Given the description of an element on the screen output the (x, y) to click on. 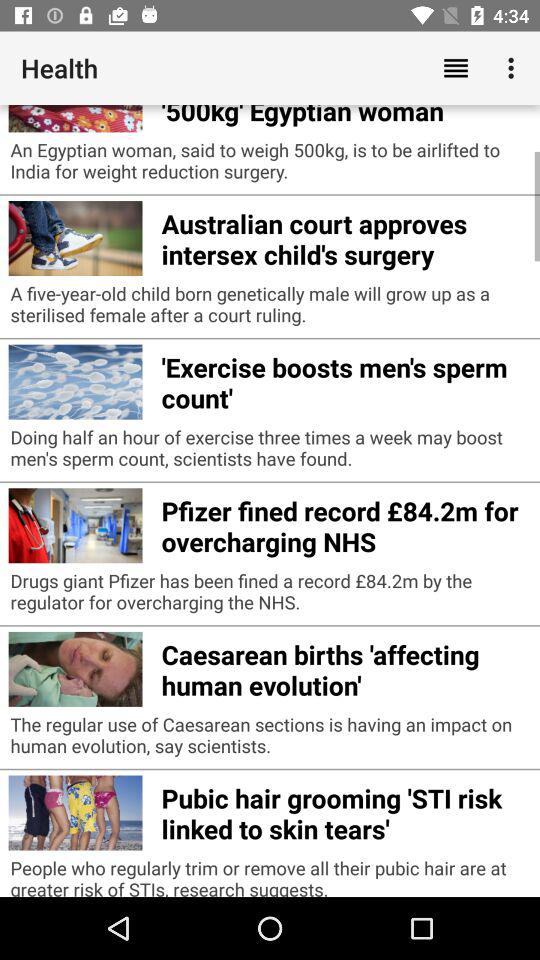
select the app above india doctor to (455, 67)
